Given the description of an element on the screen output the (x, y) to click on. 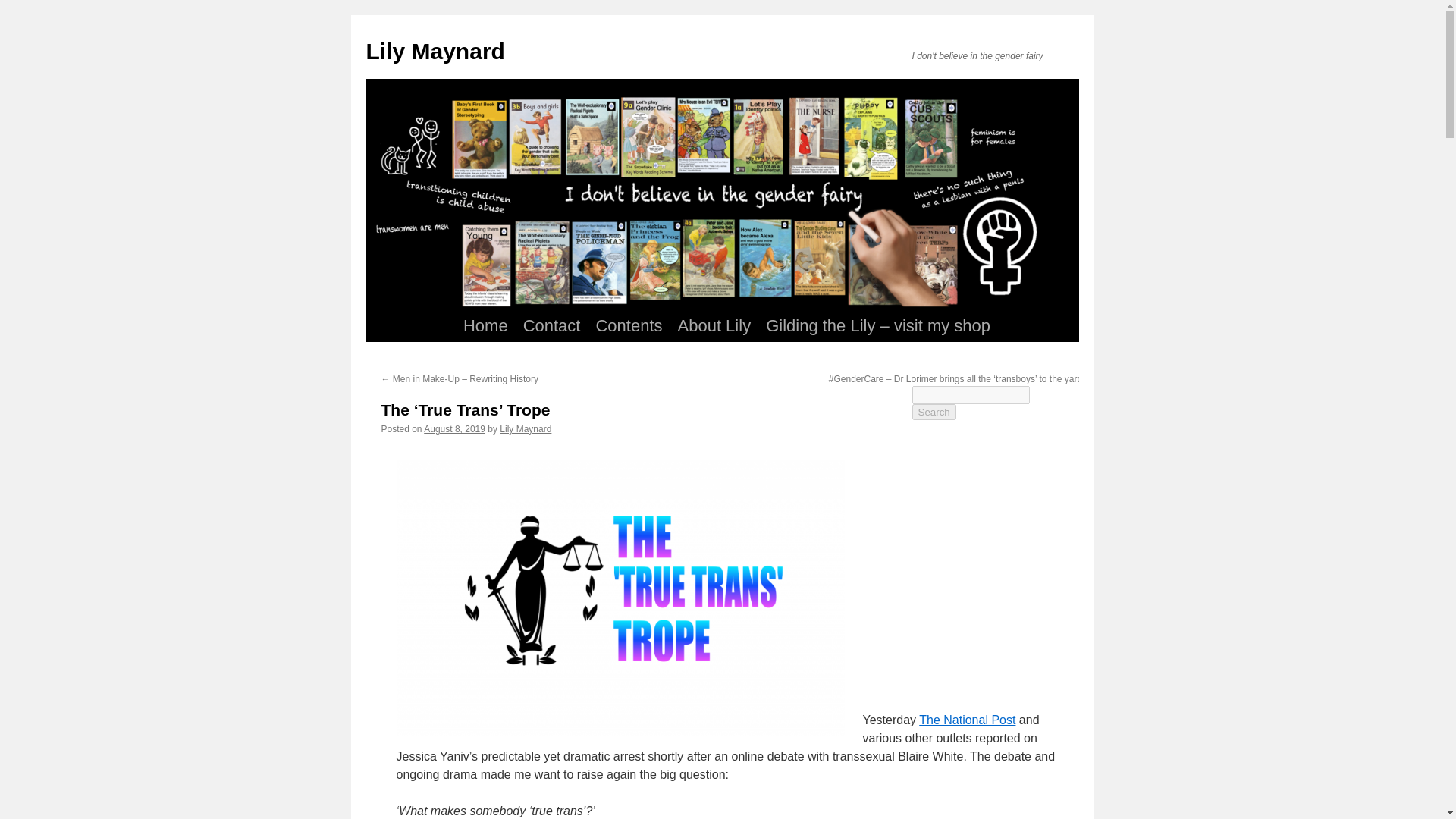
Home (485, 326)
The National Post (966, 719)
Lily Maynard (525, 429)
Lily Maynard (434, 50)
1:40 am (453, 429)
August 8, 2019 (453, 429)
Contents (628, 326)
View all posts by Lily Maynard (525, 429)
Search (933, 412)
About Lily (713, 326)
